Given the description of an element on the screen output the (x, y) to click on. 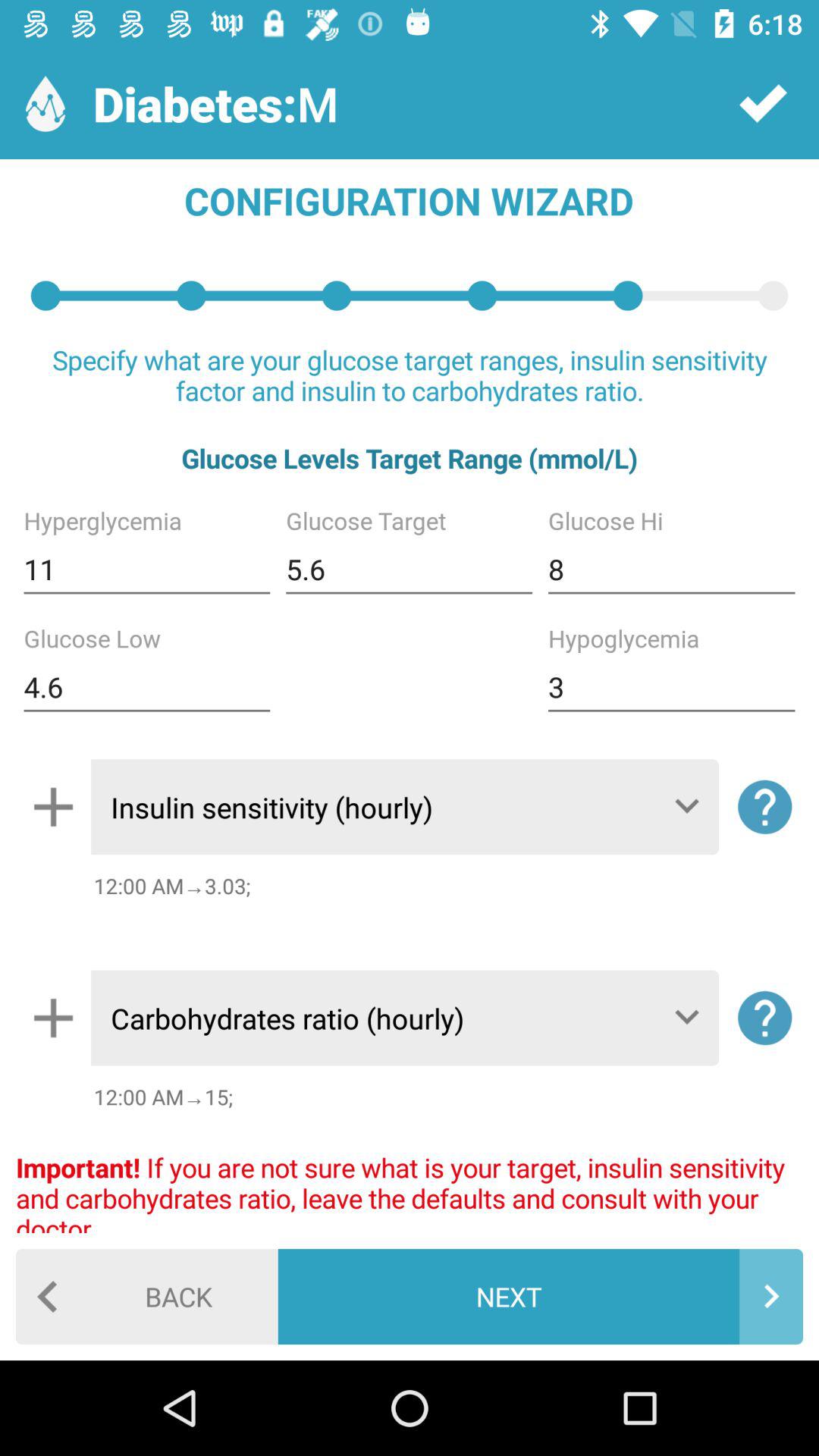
turn off the icon next to the back (540, 1296)
